Given the description of an element on the screen output the (x, y) to click on. 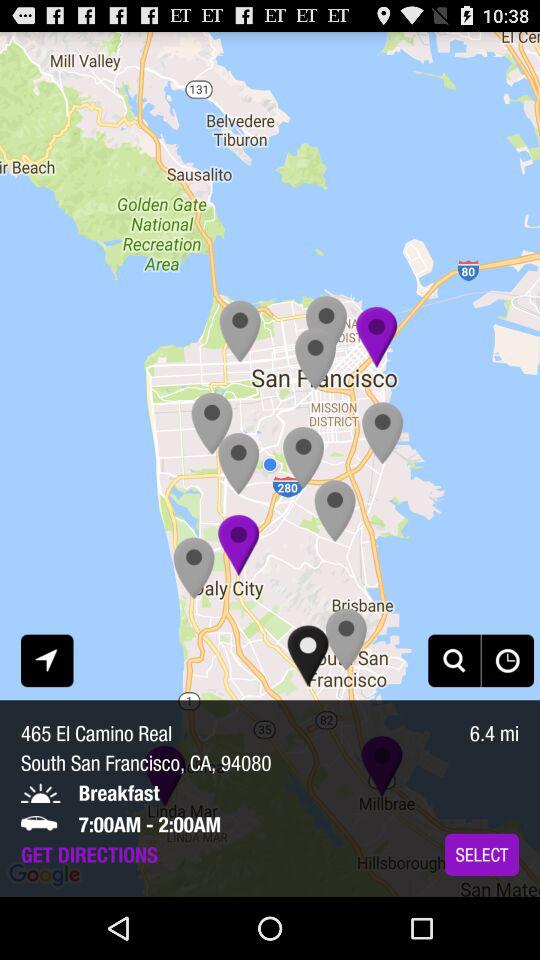
flip until the get directions item (89, 854)
